Given the description of an element on the screen output the (x, y) to click on. 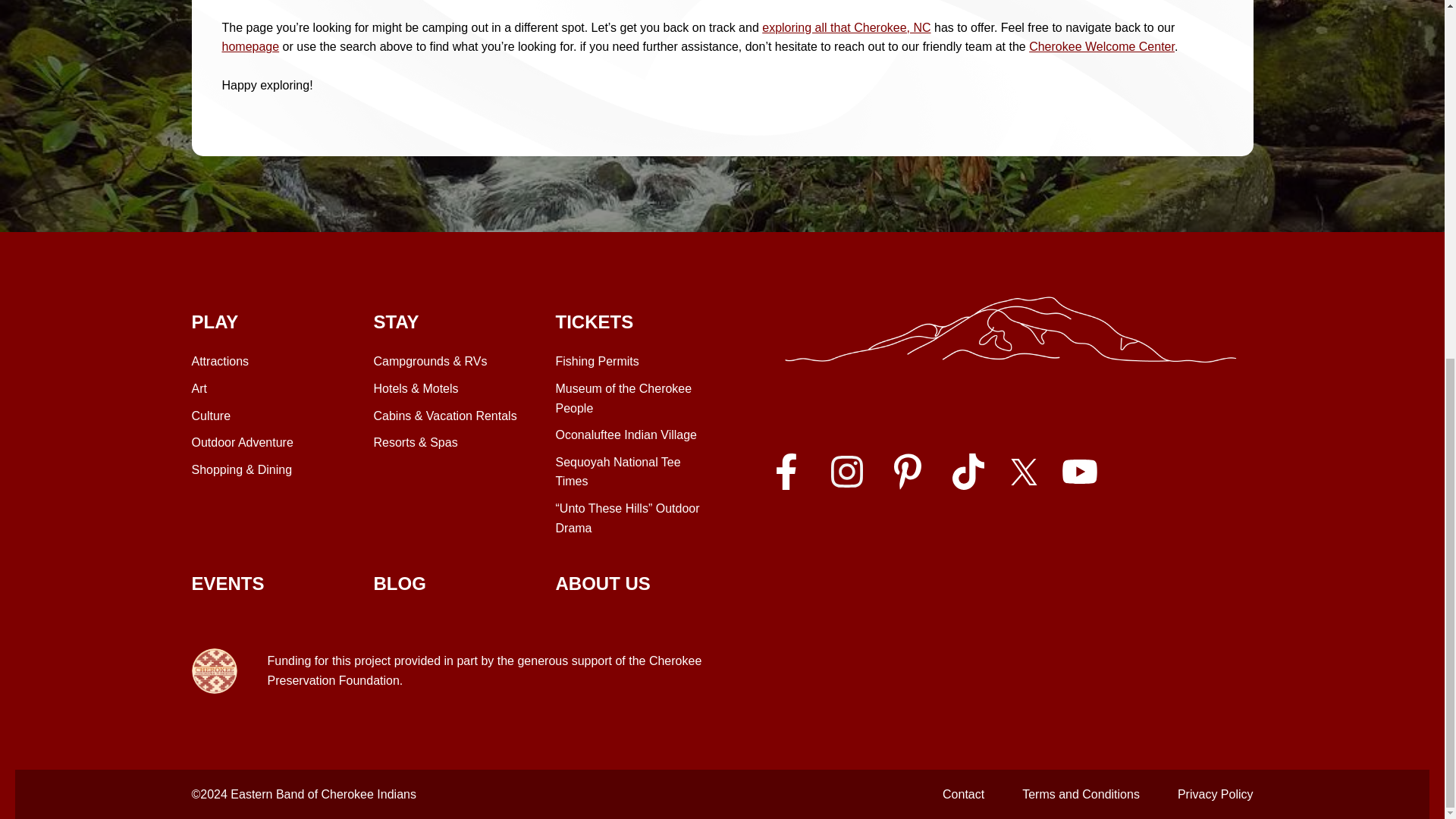
opens in a new tab (1079, 471)
Culture (210, 415)
opens in a new tab (846, 471)
ABOUT US (601, 583)
opens in a new tab (1023, 471)
STAY (630, 471)
Cherokee Welcome Center (448, 321)
opens in a new tab (1101, 46)
BLOG (448, 671)
